Given the description of an element on the screen output the (x, y) to click on. 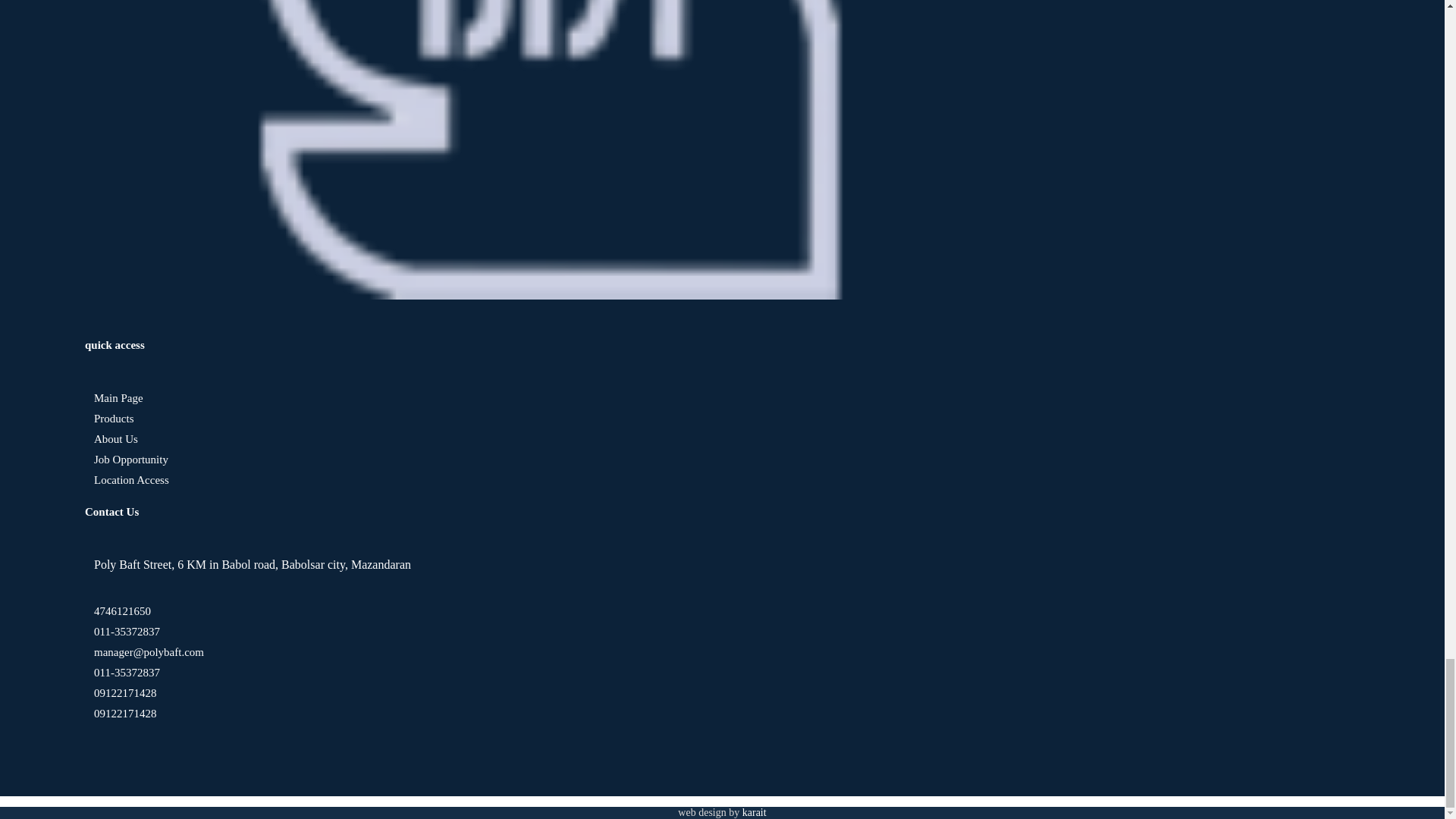
Job Opportunity (126, 459)
About Us (111, 439)
Location Access (126, 480)
Products (108, 418)
Main Page (113, 398)
